Given the description of an element on the screen output the (x, y) to click on. 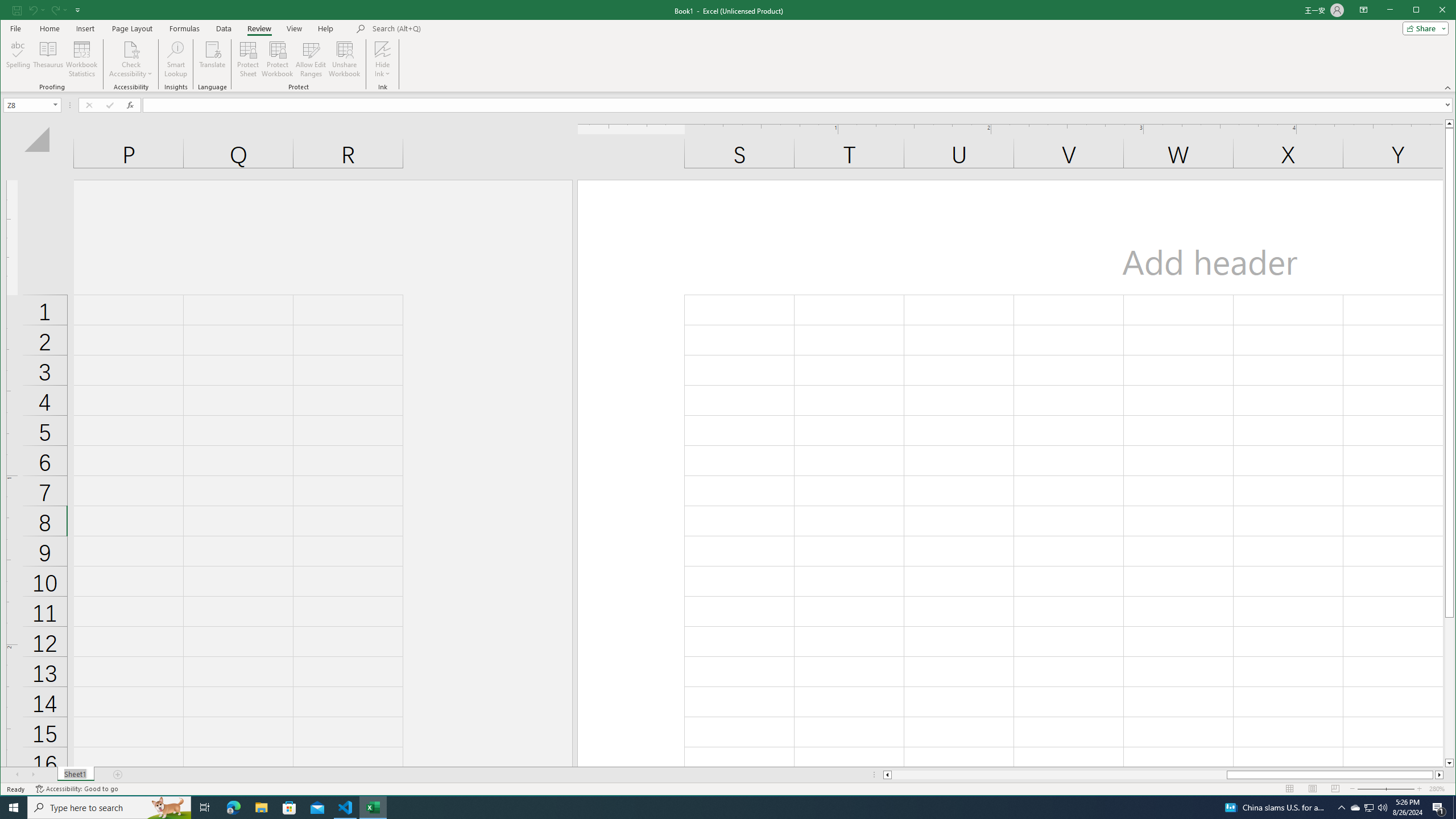
Q2790: 100% (1382, 807)
Protect Sheet... (1368, 807)
Unshare Workbook (247, 59)
Microsoft Store (344, 59)
Hide Ink (289, 807)
